Given the description of an element on the screen output the (x, y) to click on. 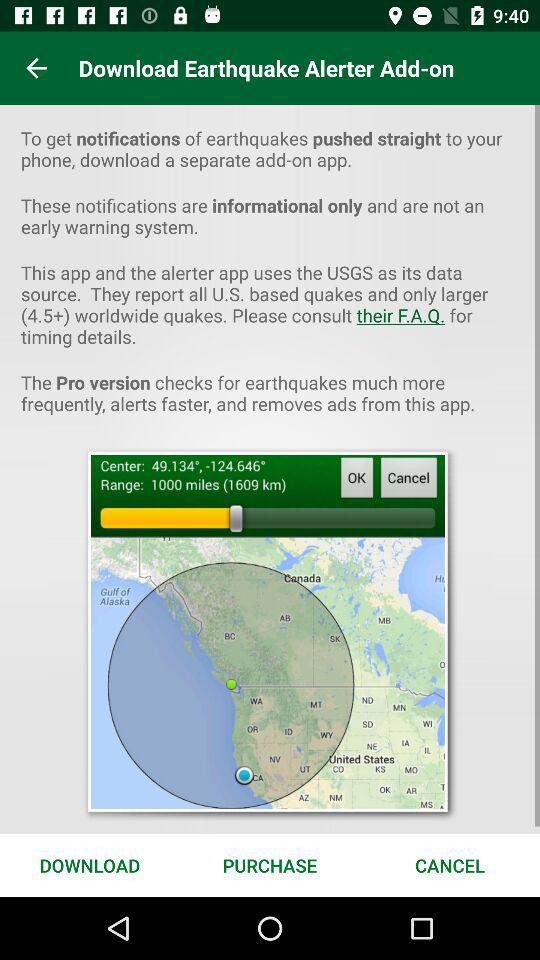
launch the item next to the download earthquake alerter item (36, 68)
